Given the description of an element on the screen output the (x, y) to click on. 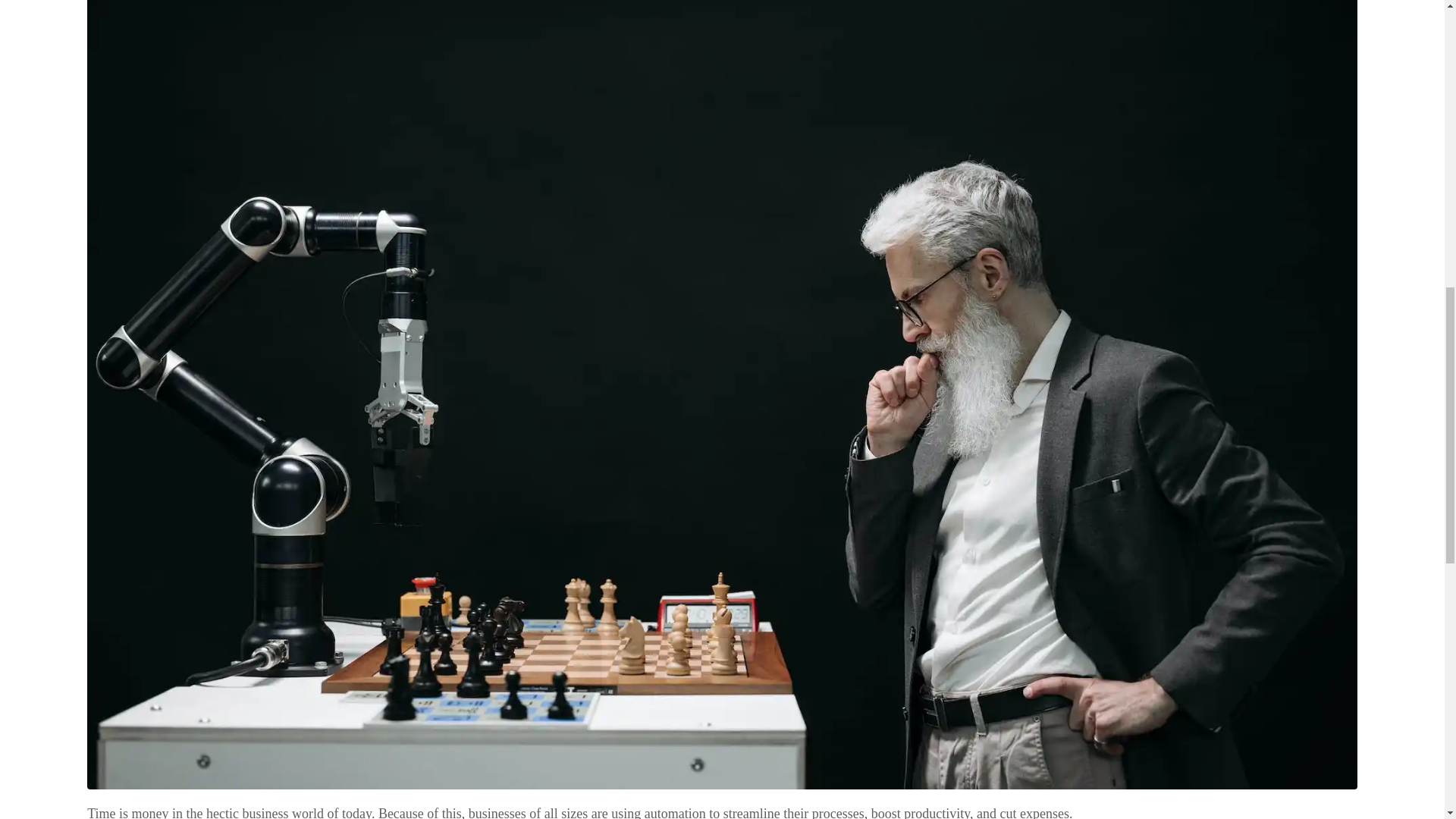
How Automation Can Revolutionize Your Business Operations (721, 363)
